Given the description of an element on the screen output the (x, y) to click on. 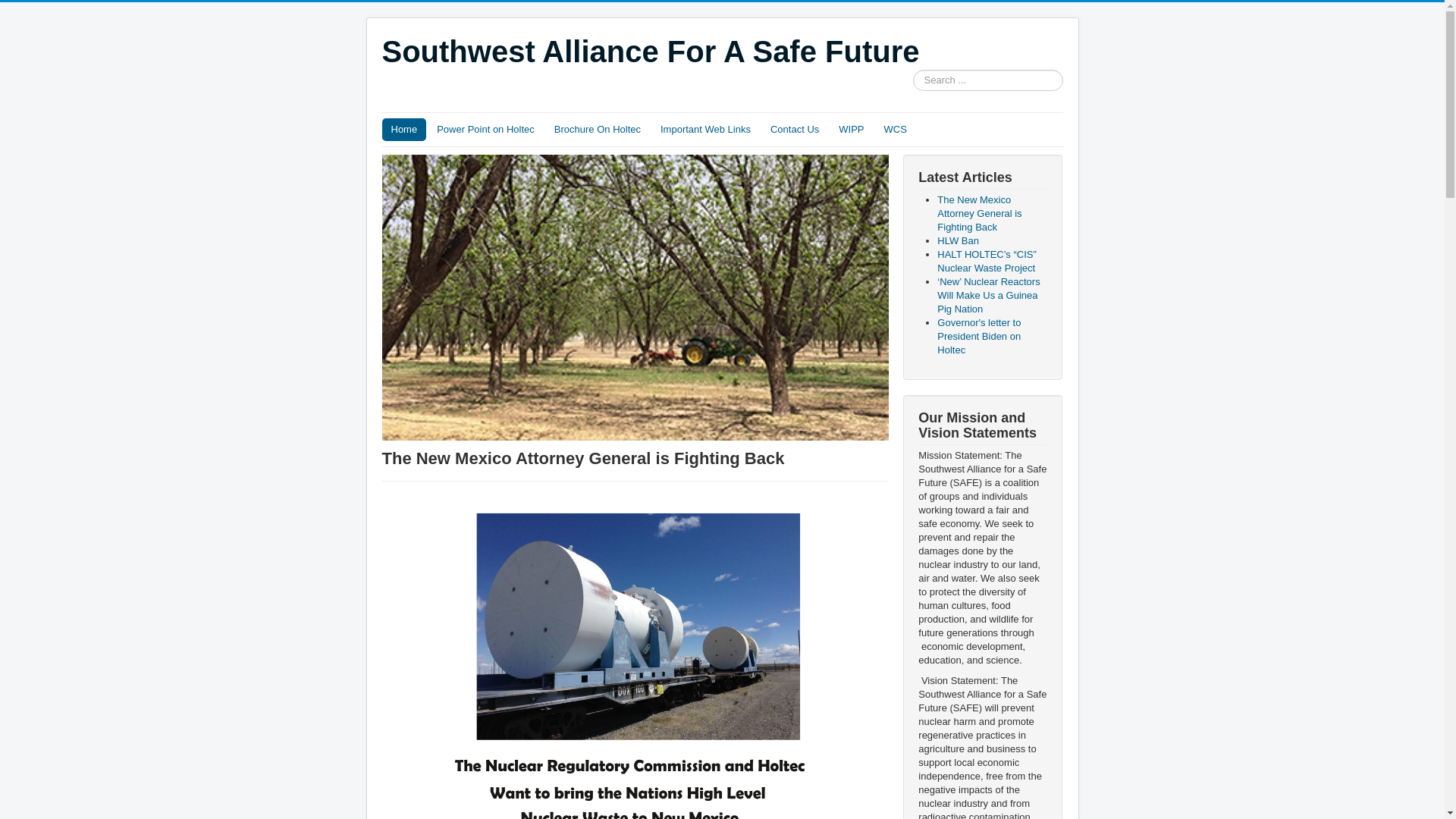
The New Mexico Attorney General is Fighting Back (979, 213)
Power Point on Holtec (485, 128)
Brochure On Holtec (596, 128)
HLW Ban (957, 240)
Contact Us (794, 128)
Governor's letter to President Biden on Holtec (978, 335)
WCS (895, 128)
Southwest Alliance For A Safe Future (650, 51)
Southwest Alliance For A Safe Future (650, 51)
WIPP (850, 128)
Home (403, 128)
Important Web Links (705, 128)
